Given the description of an element on the screen output the (x, y) to click on. 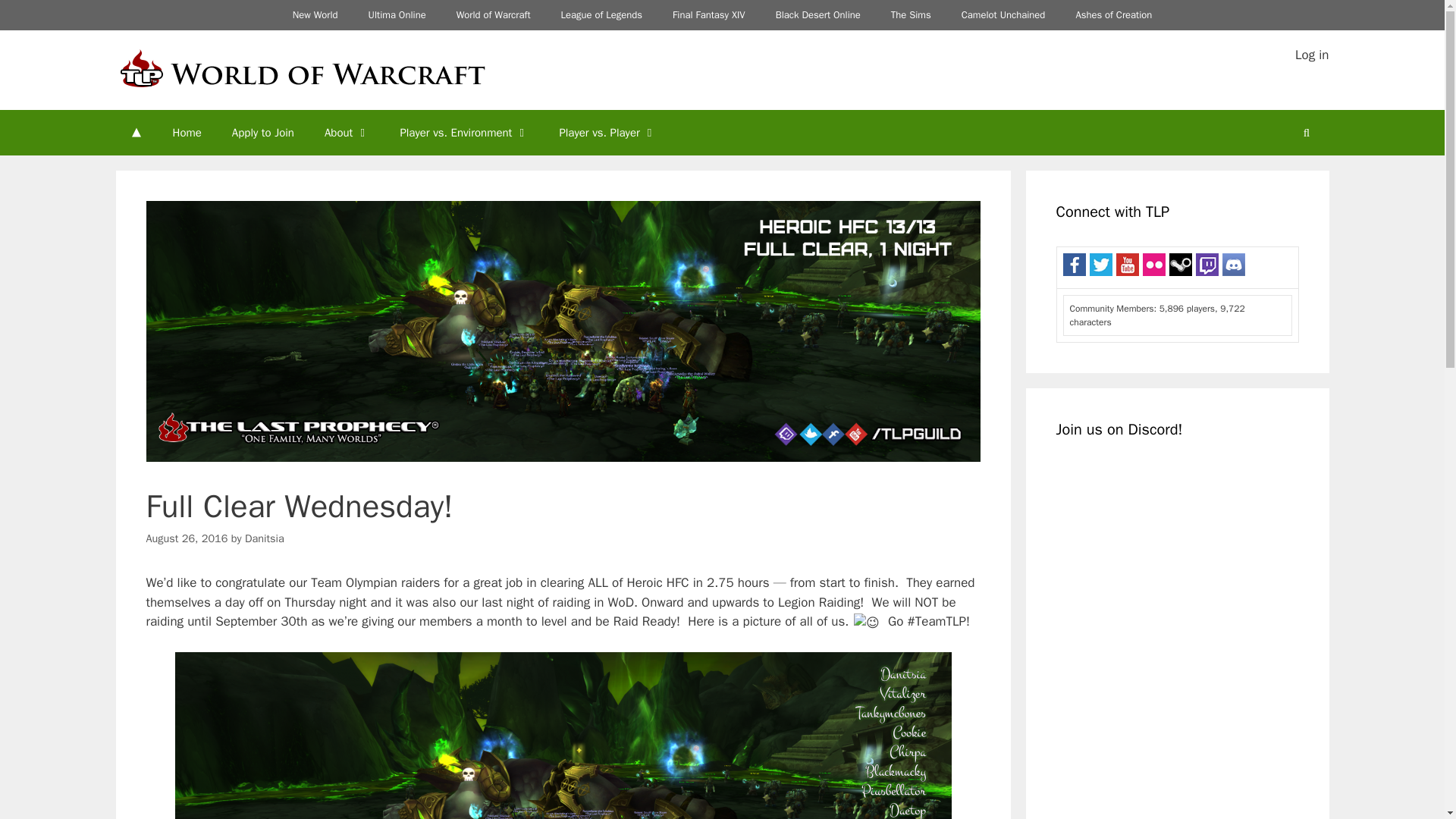
Log in (1312, 54)
View all posts by Danitsia (263, 538)
Player vs. Environment (463, 132)
Player vs. Player (607, 132)
Black Desert Online (818, 15)
Home (186, 132)
Final Fantasy XIV (709, 15)
Apply to Join (262, 132)
The Sims (911, 15)
About (346, 132)
